Given the description of an element on the screen output the (x, y) to click on. 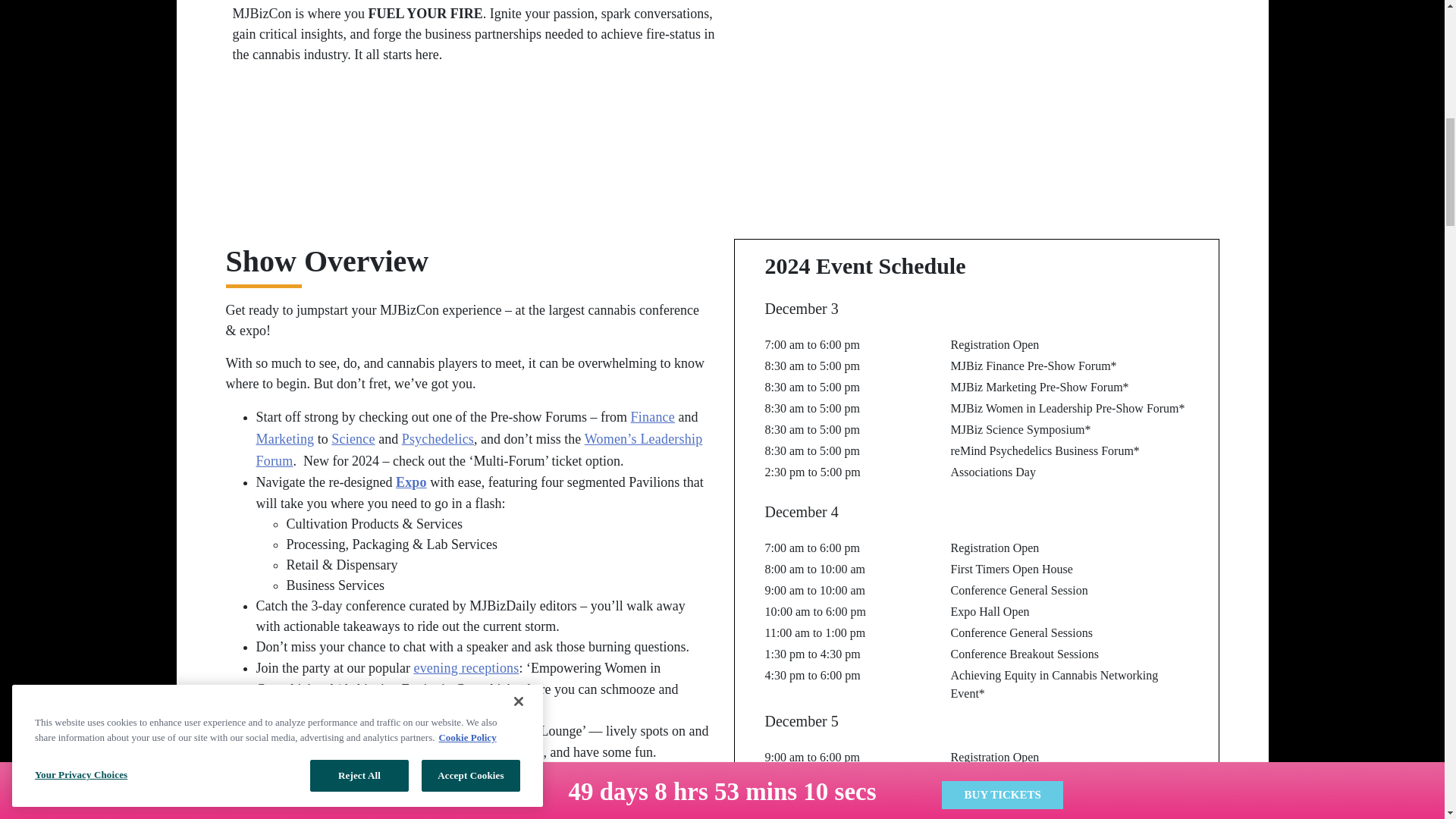
evening receptions (465, 667)
Science (352, 438)
Finance (652, 417)
Marketing (285, 438)
Psychedelics (437, 438)
Expo (411, 482)
